Given the description of an element on the screen output the (x, y) to click on. 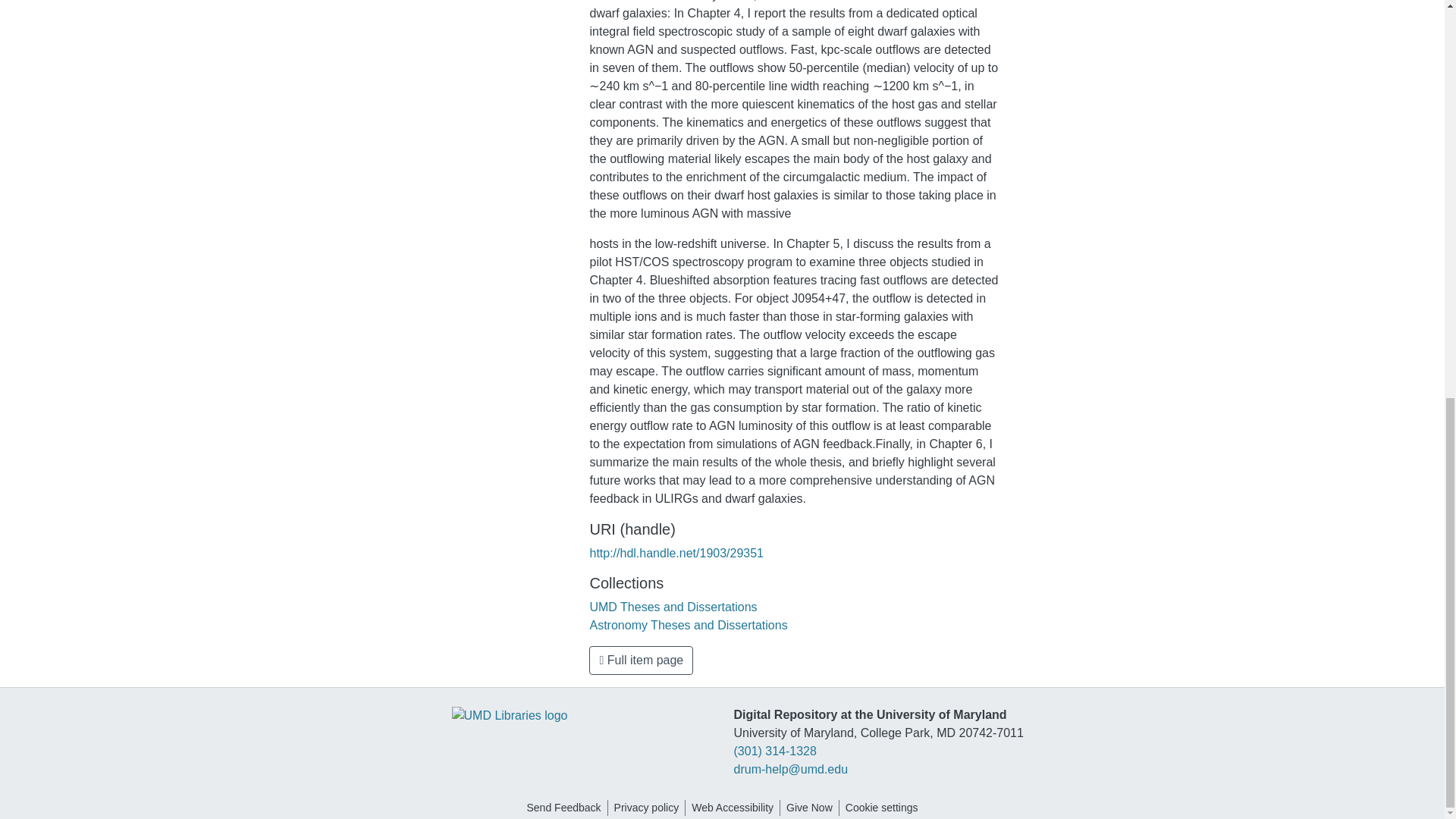
Privacy policy (646, 807)
Send Feedback (563, 807)
Give Now (809, 807)
Full item page (641, 660)
Cookie settings (882, 807)
Astronomy Theses and Dissertations (688, 625)
Libraries Home Page (509, 714)
UMD Theses and Dissertations (673, 606)
Web Accessibility (731, 807)
